Given the description of an element on the screen output the (x, y) to click on. 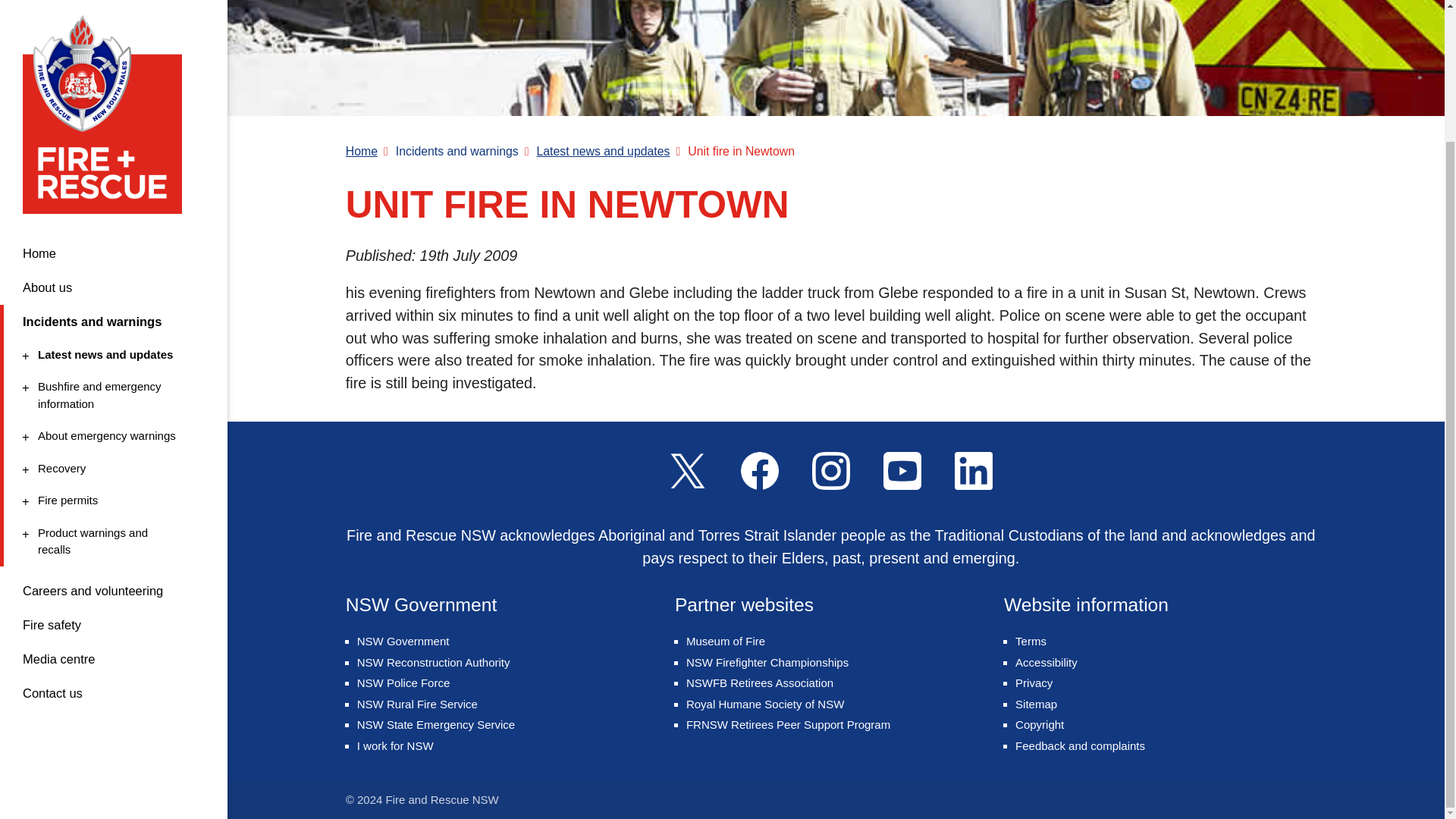
Latest news and updates (111, 194)
About emergency warnings (111, 234)
Home (111, 275)
Fire permits (113, 92)
Recovery (111, 339)
Fire and Rescue NSW (111, 307)
